Given the description of an element on the screen output the (x, y) to click on. 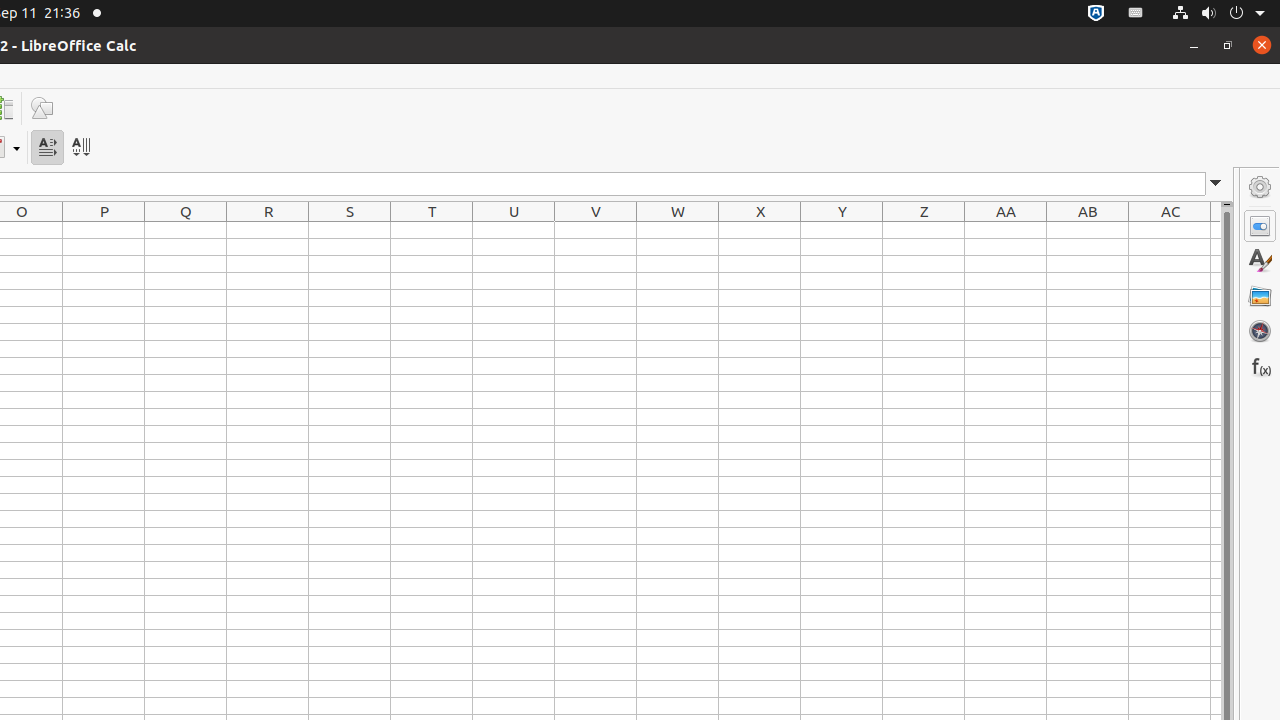
V1 Element type: table-cell (596, 230)
Properties Element type: radio-button (1260, 226)
